Given the description of an element on the screen output the (x, y) to click on. 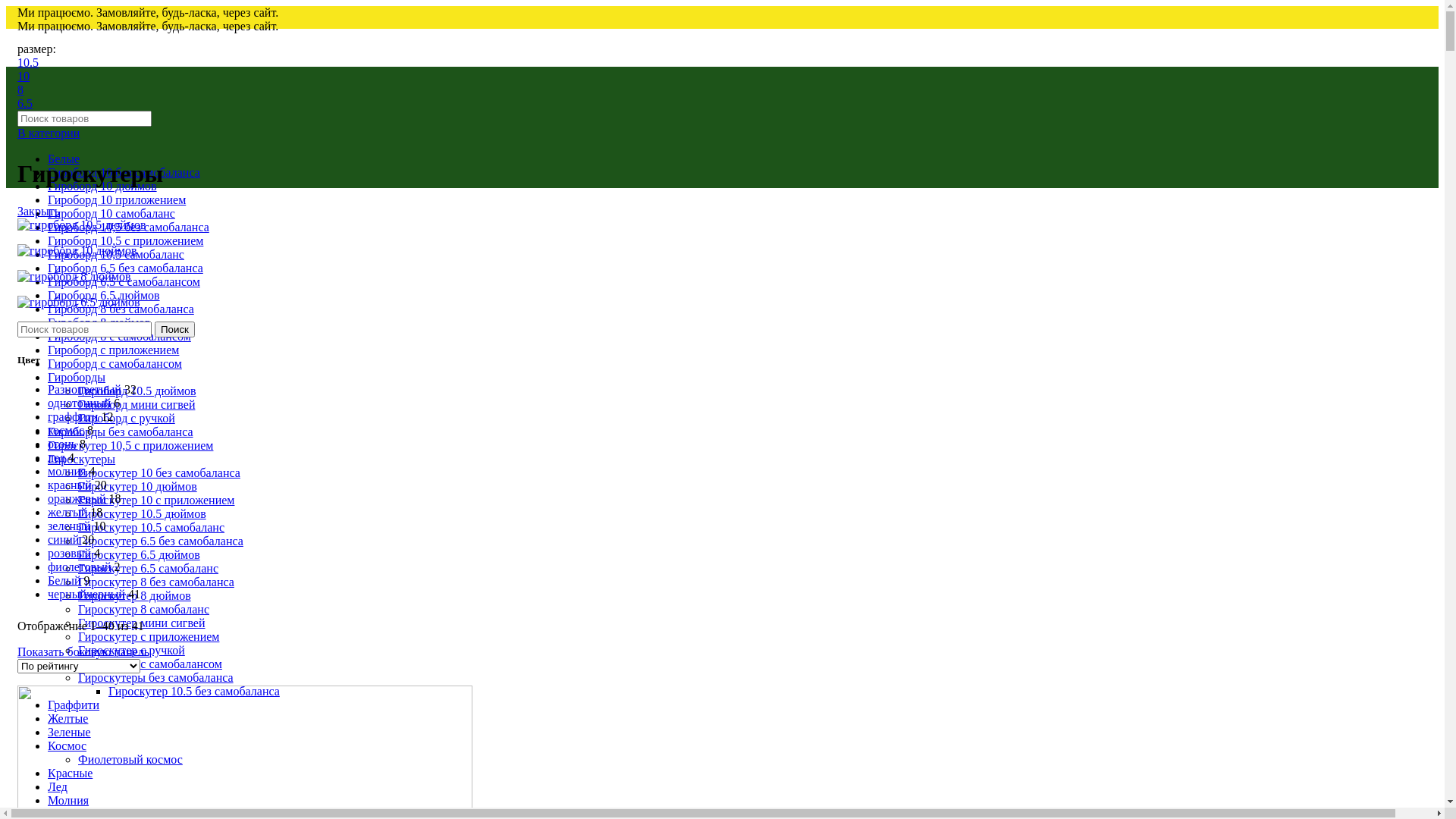
6.5 Element type: text (24, 103)
10 Element type: text (23, 75)
10.5 Element type: text (27, 62)
8 Element type: text (20, 89)
